Given the description of an element on the screen output the (x, y) to click on. 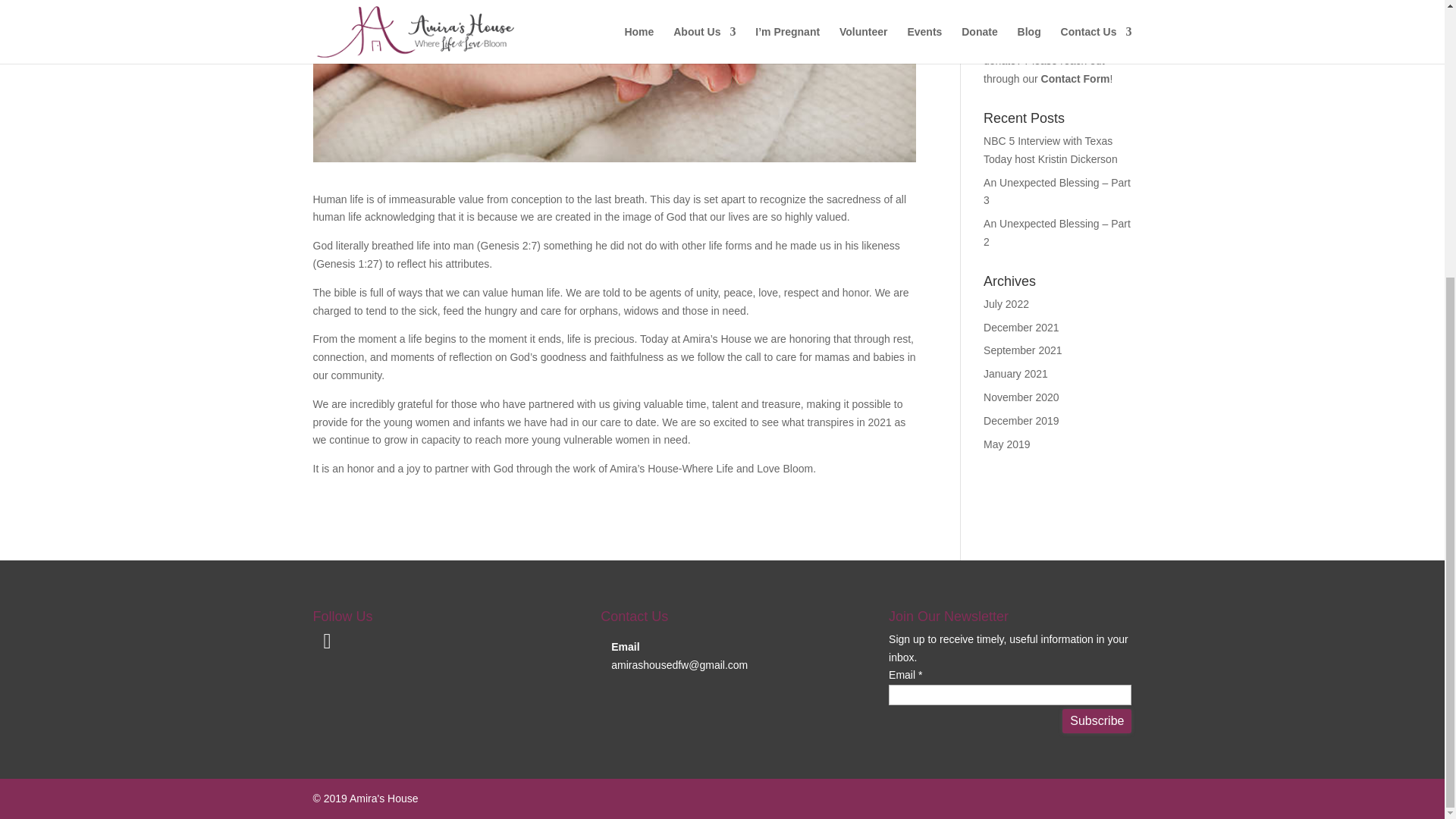
July 2022 (1006, 304)
December 2021 (1021, 327)
September 2021 (1023, 349)
Subscribe (1096, 721)
NBC 5 Interview with Texas Today host Kristin Dickerson (1051, 150)
Contact Form (1075, 78)
May 2019 (1006, 444)
January 2021 (1016, 373)
November 2020 (1021, 397)
December 2019 (1021, 420)
